Given the description of an element on the screen output the (x, y) to click on. 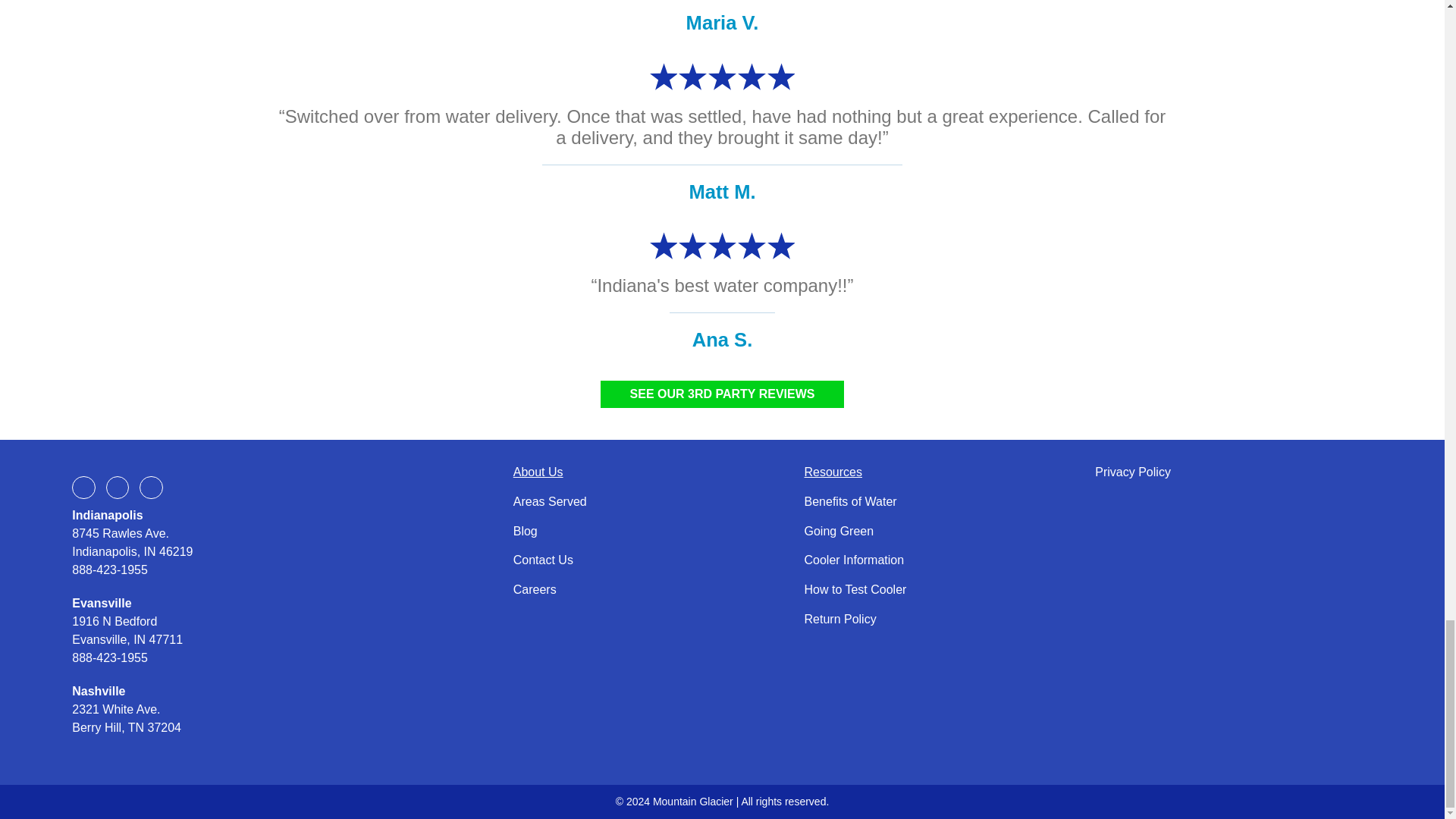
Facebook (82, 486)
YouTube (150, 486)
Twitter (117, 486)
